Given the description of an element on the screen output the (x, y) to click on. 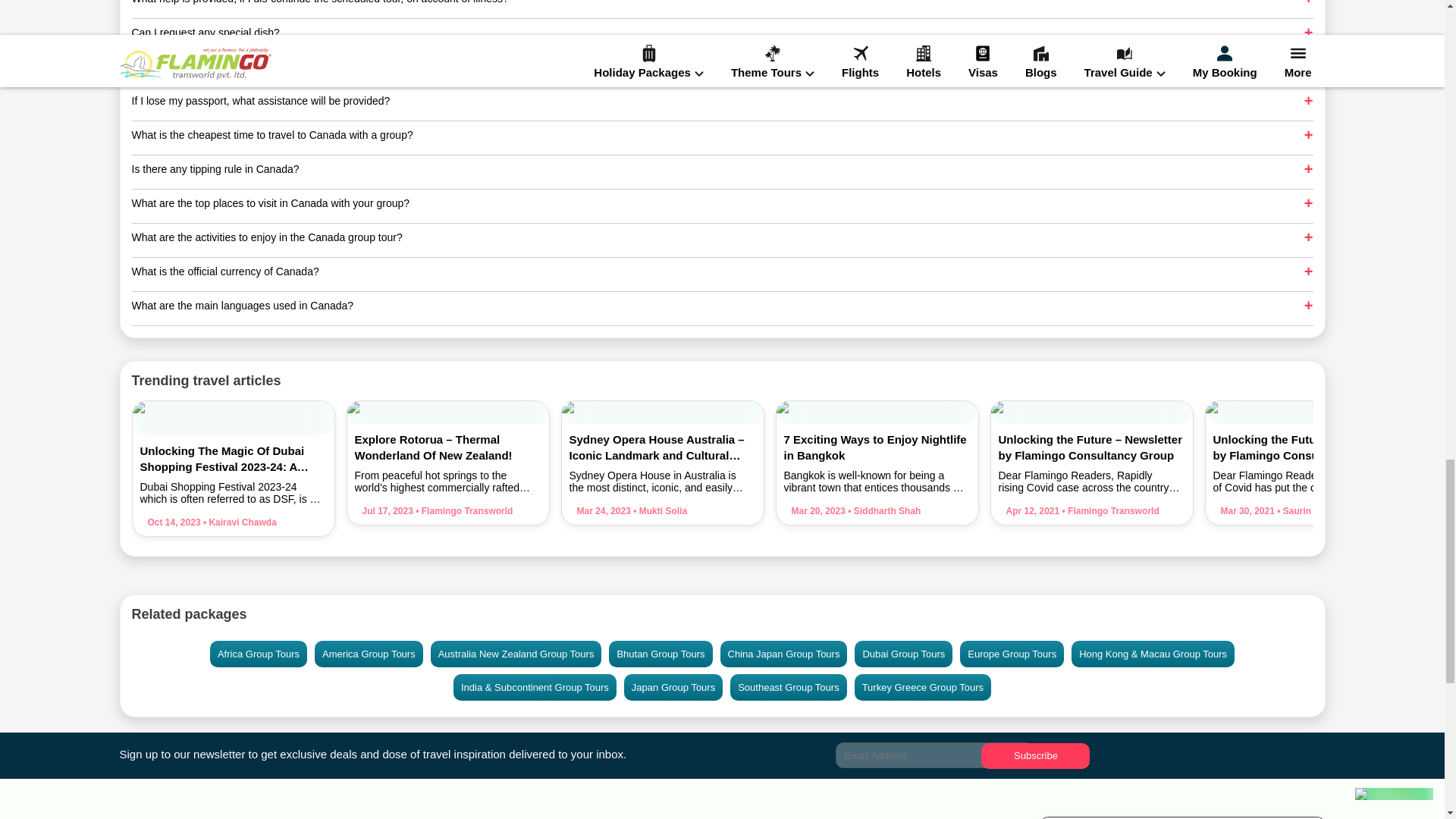
Mukti Solia (658, 511)
Flamingo Transworld (1108, 511)
Saurin Shah (1305, 511)
Siddharth Shah (883, 511)
Flamingo Transworld (463, 511)
Kairavi Chawda (238, 521)
